Given the description of an element on the screen output the (x, y) to click on. 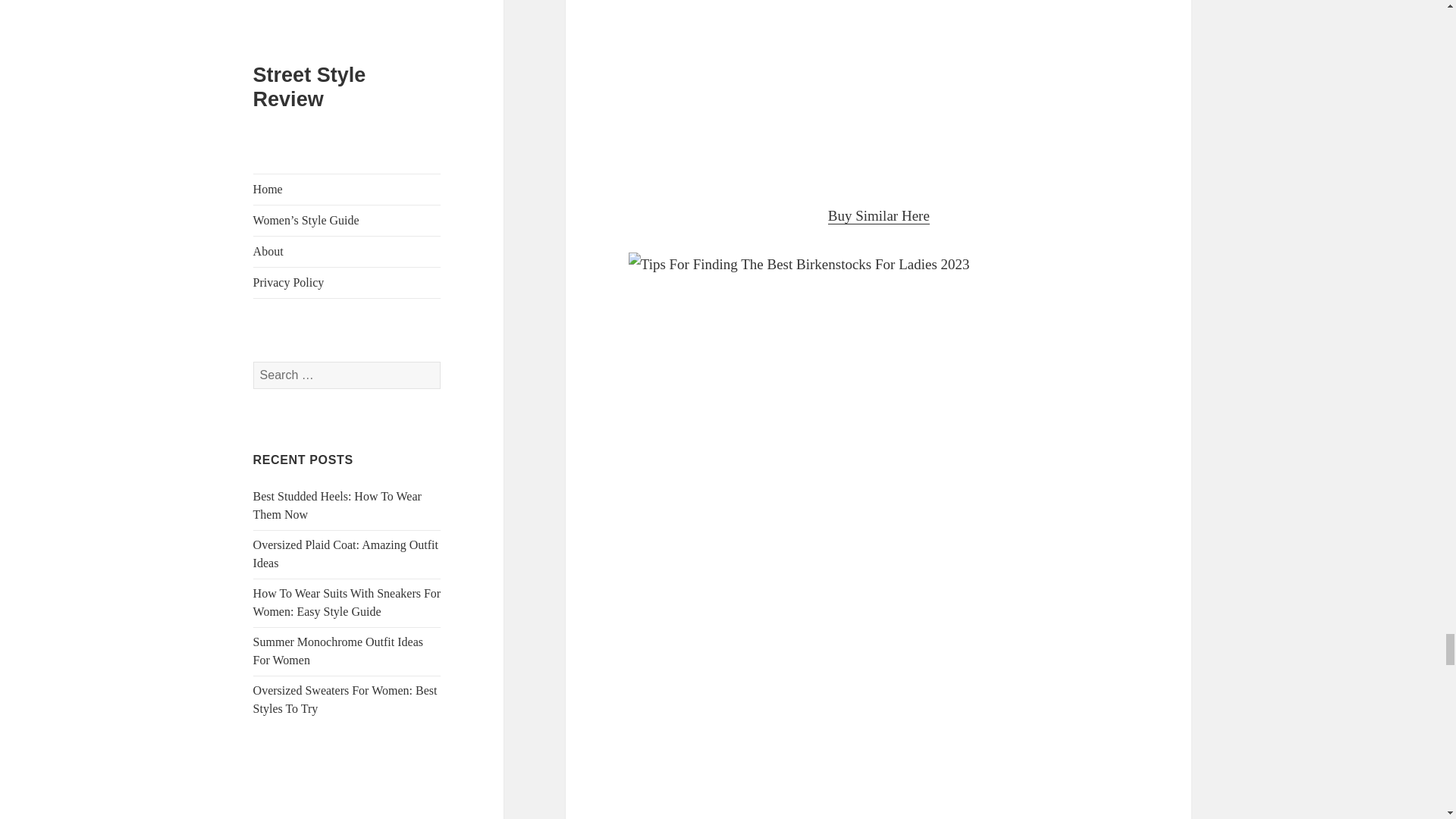
Buy Similar Here (879, 216)
